Given the description of an element on the screen output the (x, y) to click on. 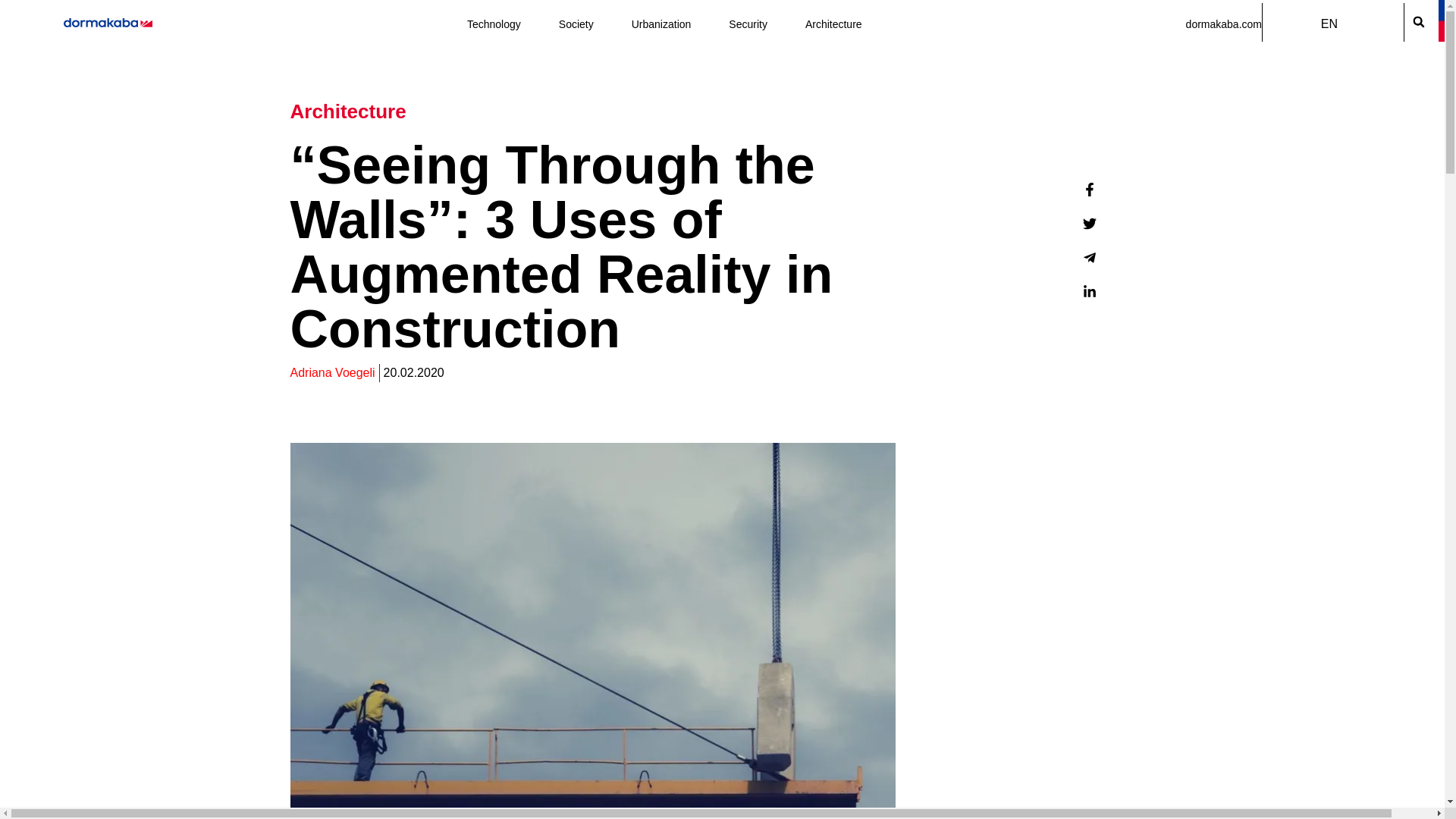
Society (576, 23)
20.02.2020 (414, 372)
Technology (494, 23)
Adriana Voegeli (331, 372)
EN (1332, 23)
Architecture (833, 23)
Urbanization (661, 23)
dormakaba.com (1224, 24)
Security (748, 23)
